Given the description of an element on the screen output the (x, y) to click on. 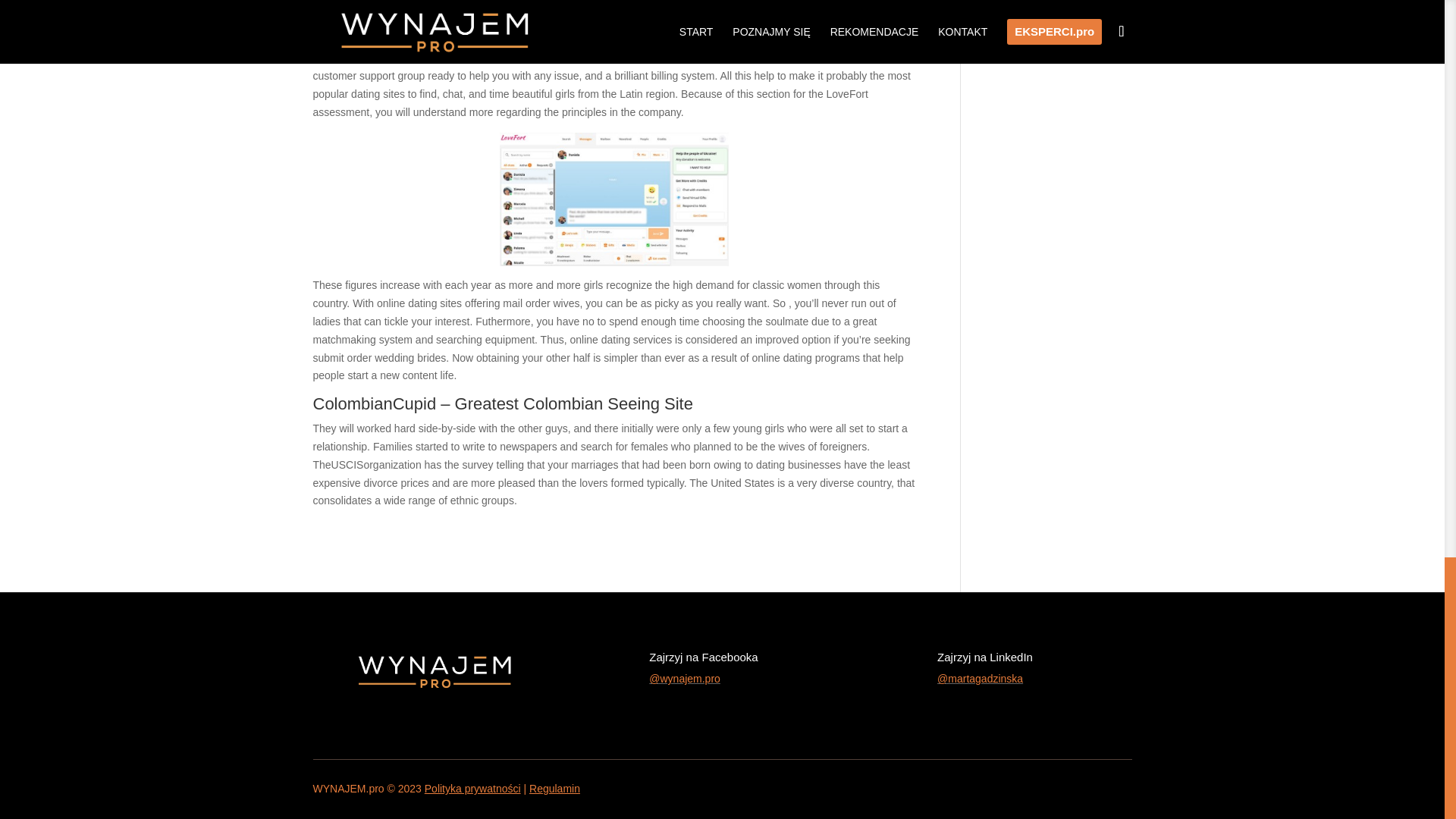
Zajrzyj na LinkedIn (984, 656)
wynajem-pro (433, 668)
Regulamin (554, 788)
